Given the description of an element on the screen output the (x, y) to click on. 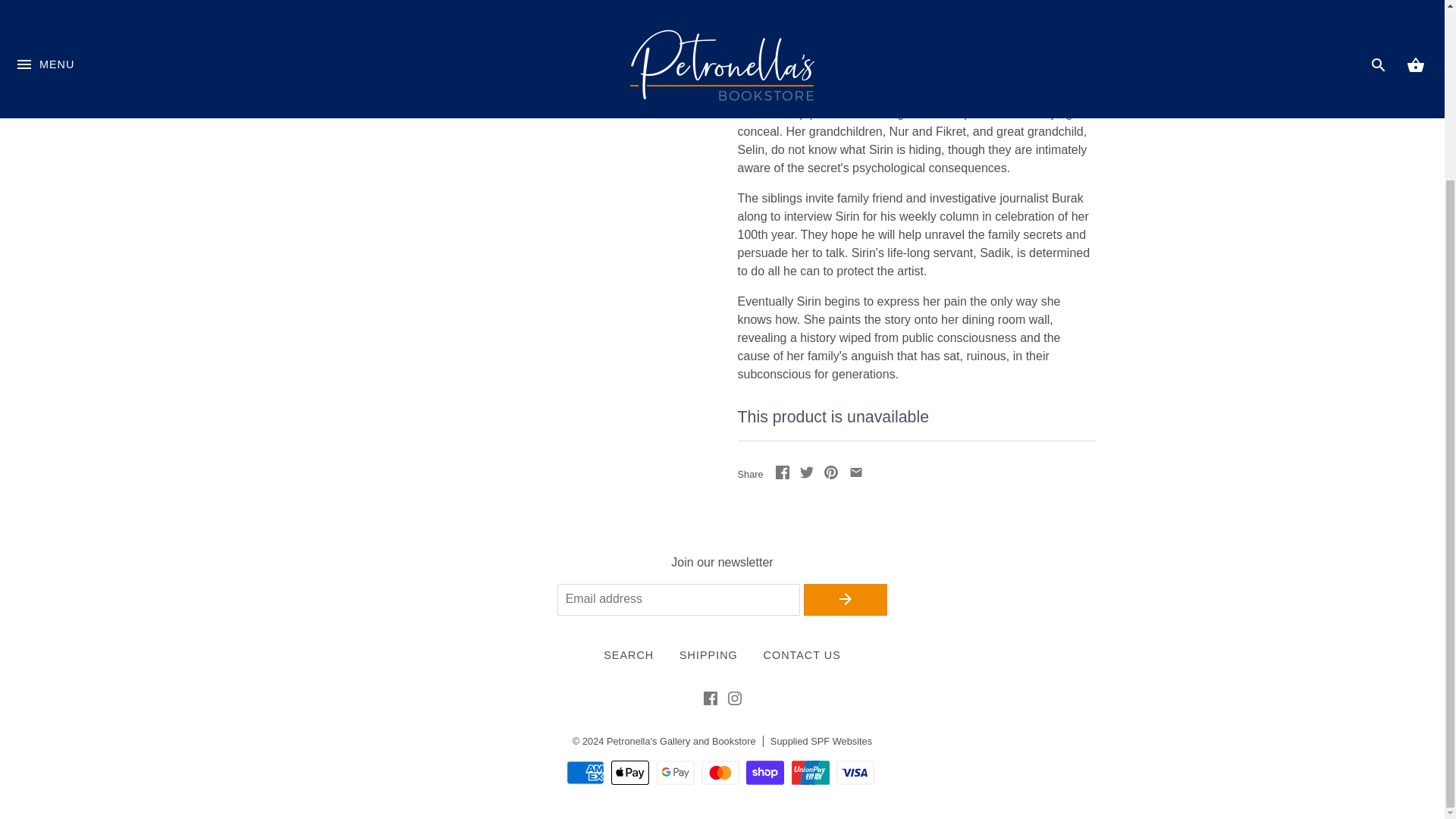
Pin the main image (831, 474)
Share on Facebook (781, 474)
Share on Twitter (806, 474)
Shipping (708, 654)
SPF (821, 740)
UP (1140, 633)
Email this product to somebody (855, 474)
Contact Us (801, 654)
Facebook (710, 701)
Search (628, 654)
Instagram (734, 701)
